Given the description of an element on the screen output the (x, y) to click on. 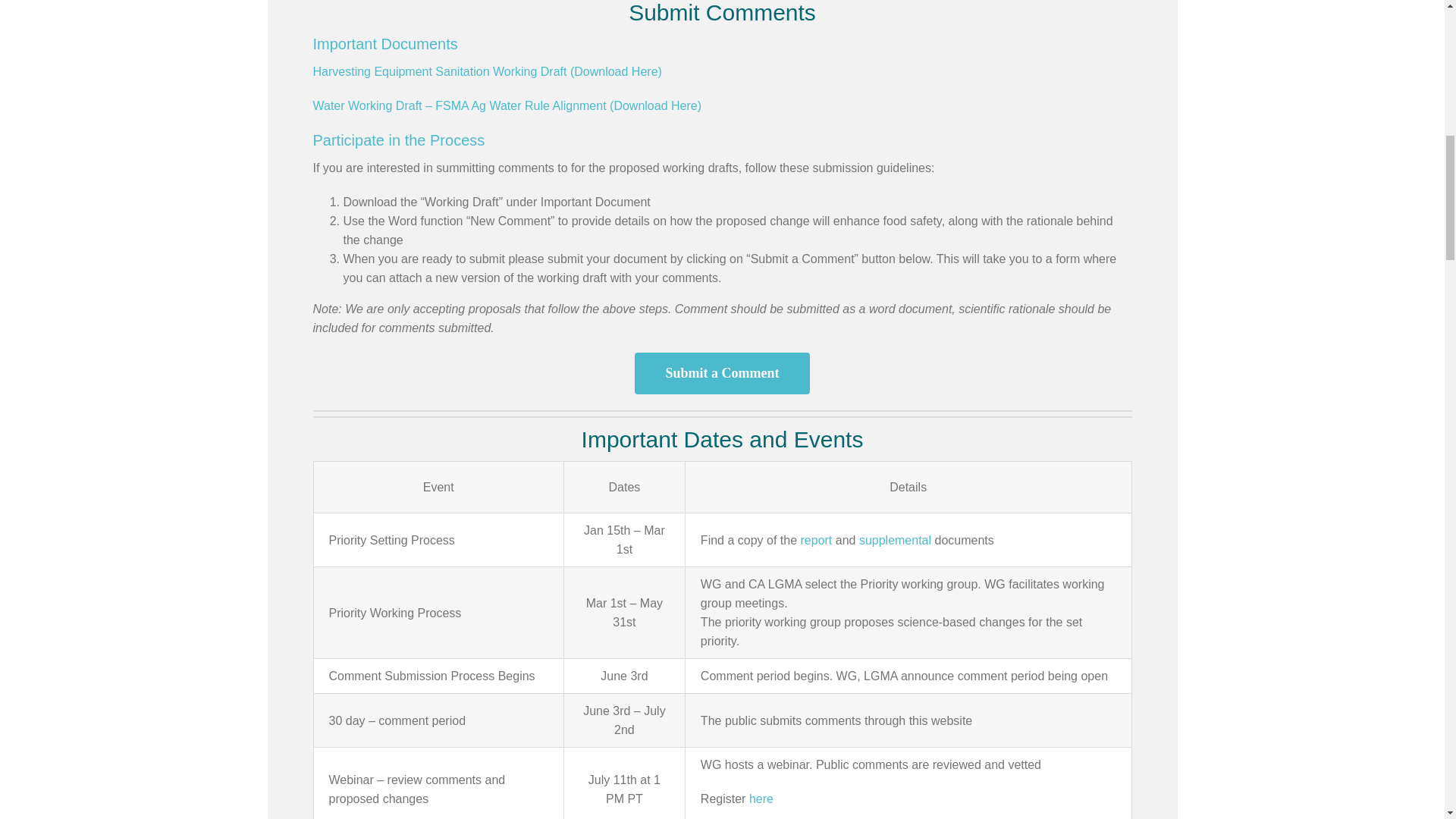
Submit a Comment (721, 372)
report (816, 540)
here (761, 798)
supplemental (895, 540)
